Given the description of an element on the screen output the (x, y) to click on. 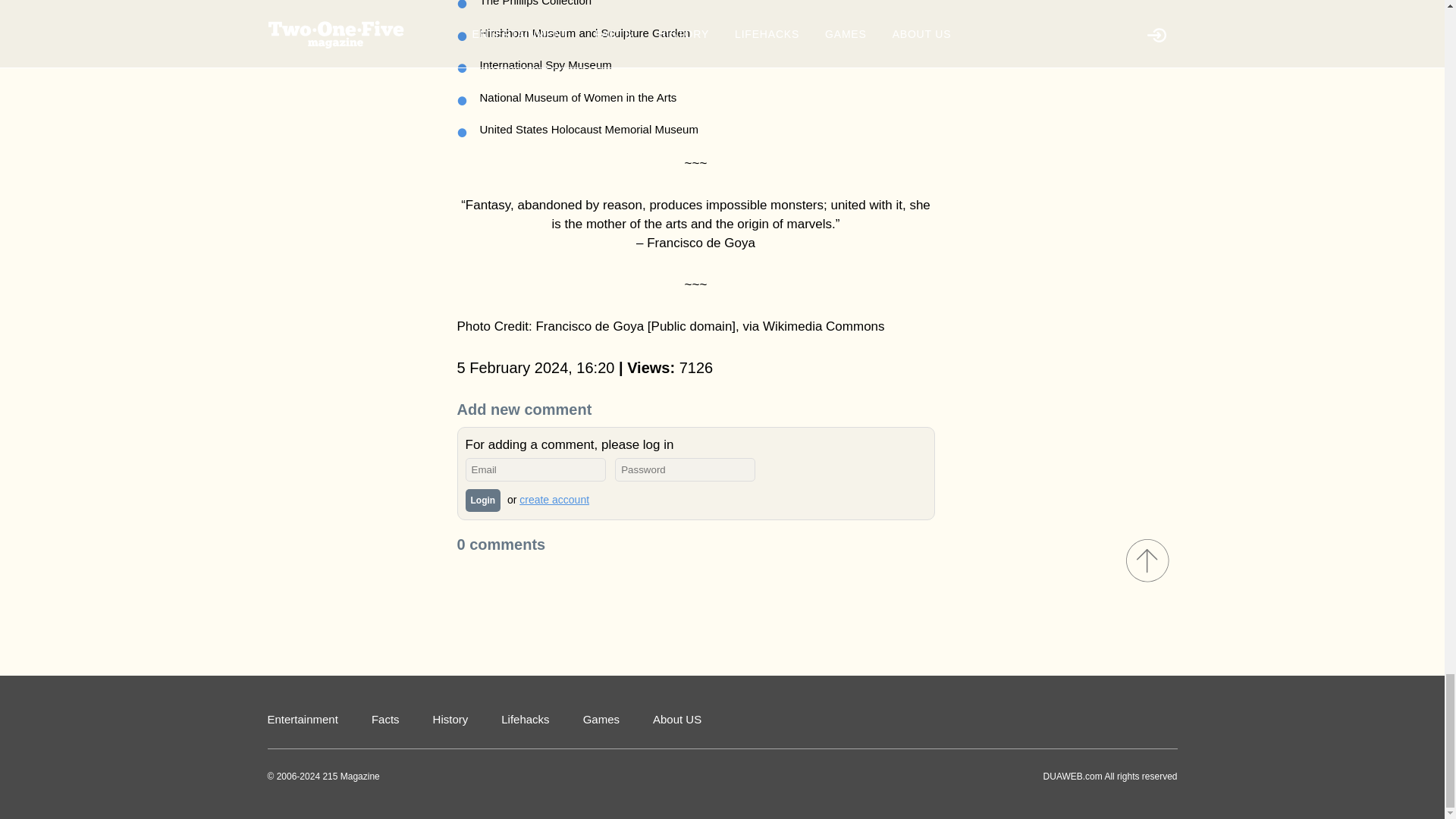
About US (676, 717)
Lifehacks (524, 717)
History (450, 717)
Games (601, 717)
create account (554, 499)
Facts (384, 717)
Entertainment (301, 717)
Login (482, 499)
